Given the description of an element on the screen output the (x, y) to click on. 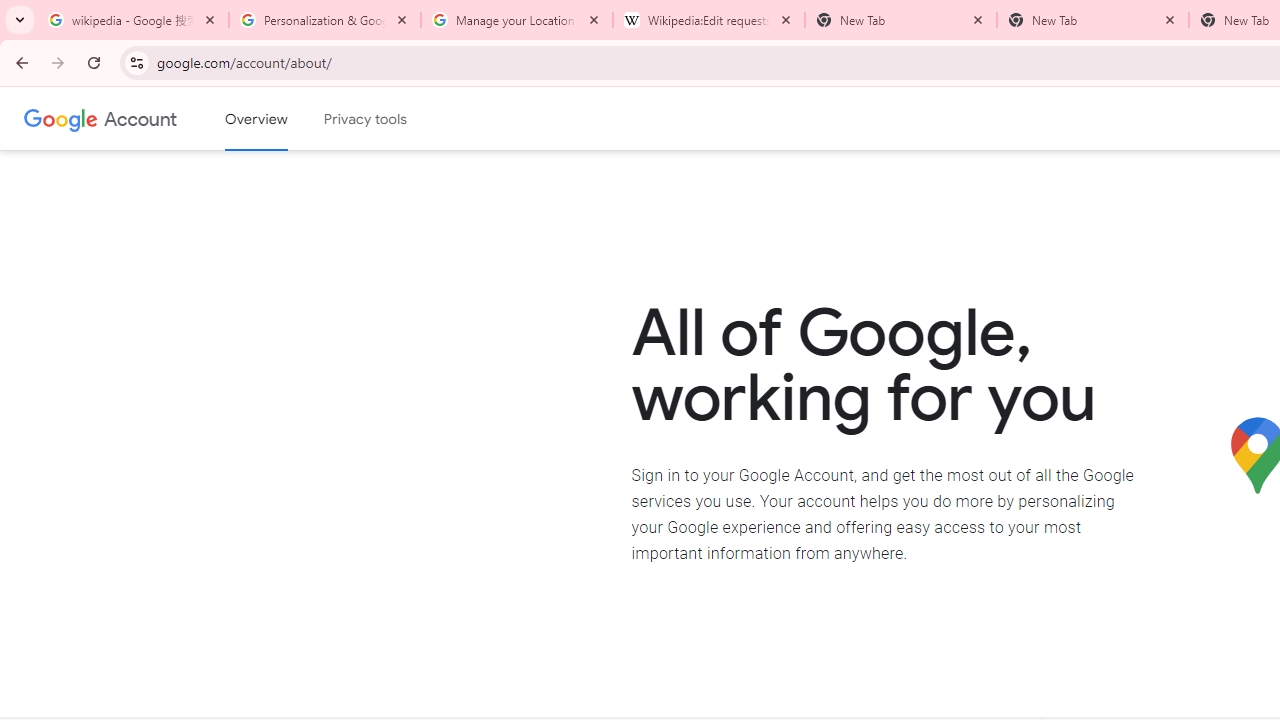
Google logo (61, 118)
Personalization & Google Search results - Google Search Help (325, 20)
New Tab (1093, 20)
Skip to Content (285, 115)
